Given the description of an element on the screen output the (x, y) to click on. 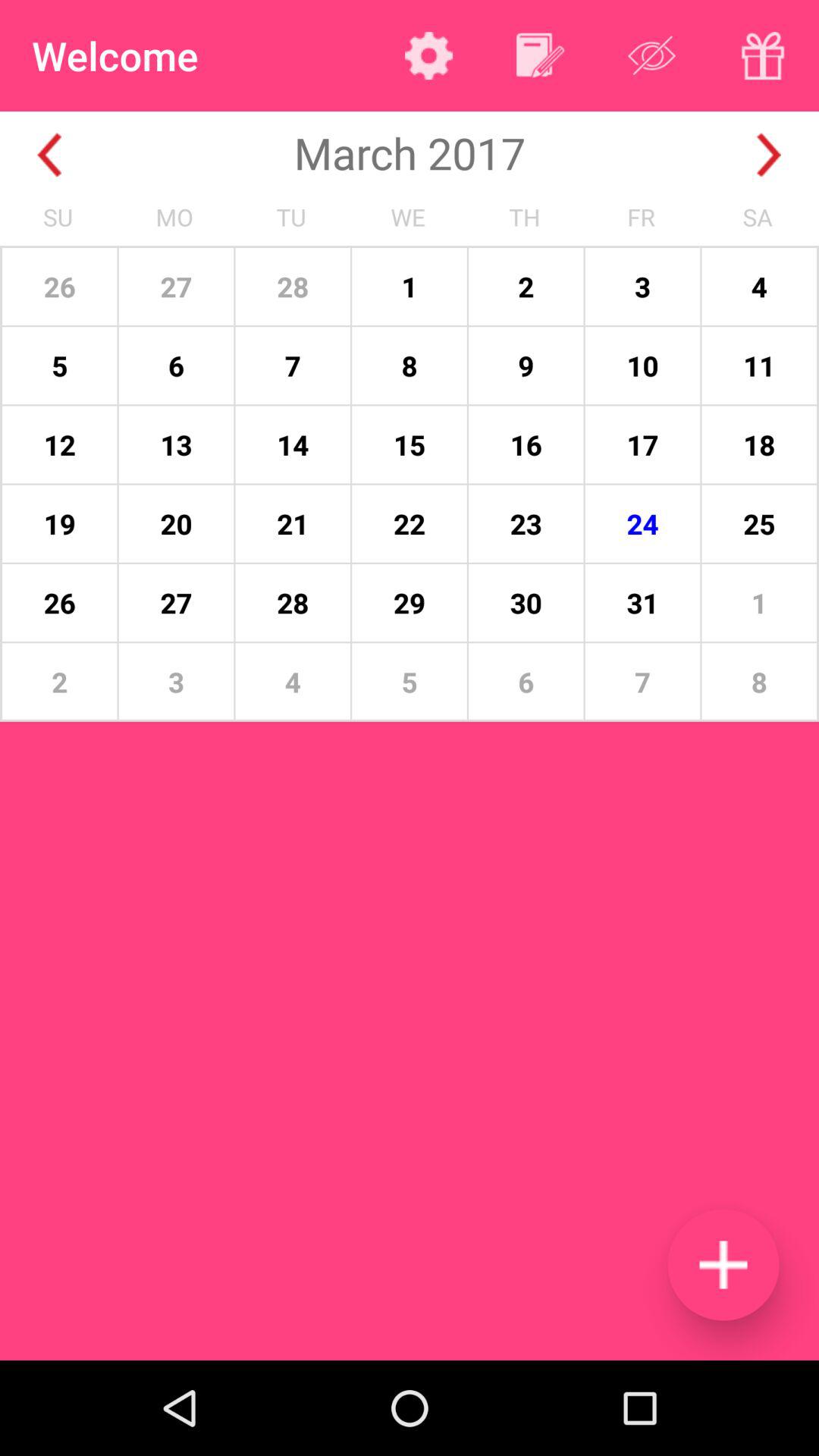
my secret diary with password (763, 55)
